Given the description of an element on the screen output the (x, y) to click on. 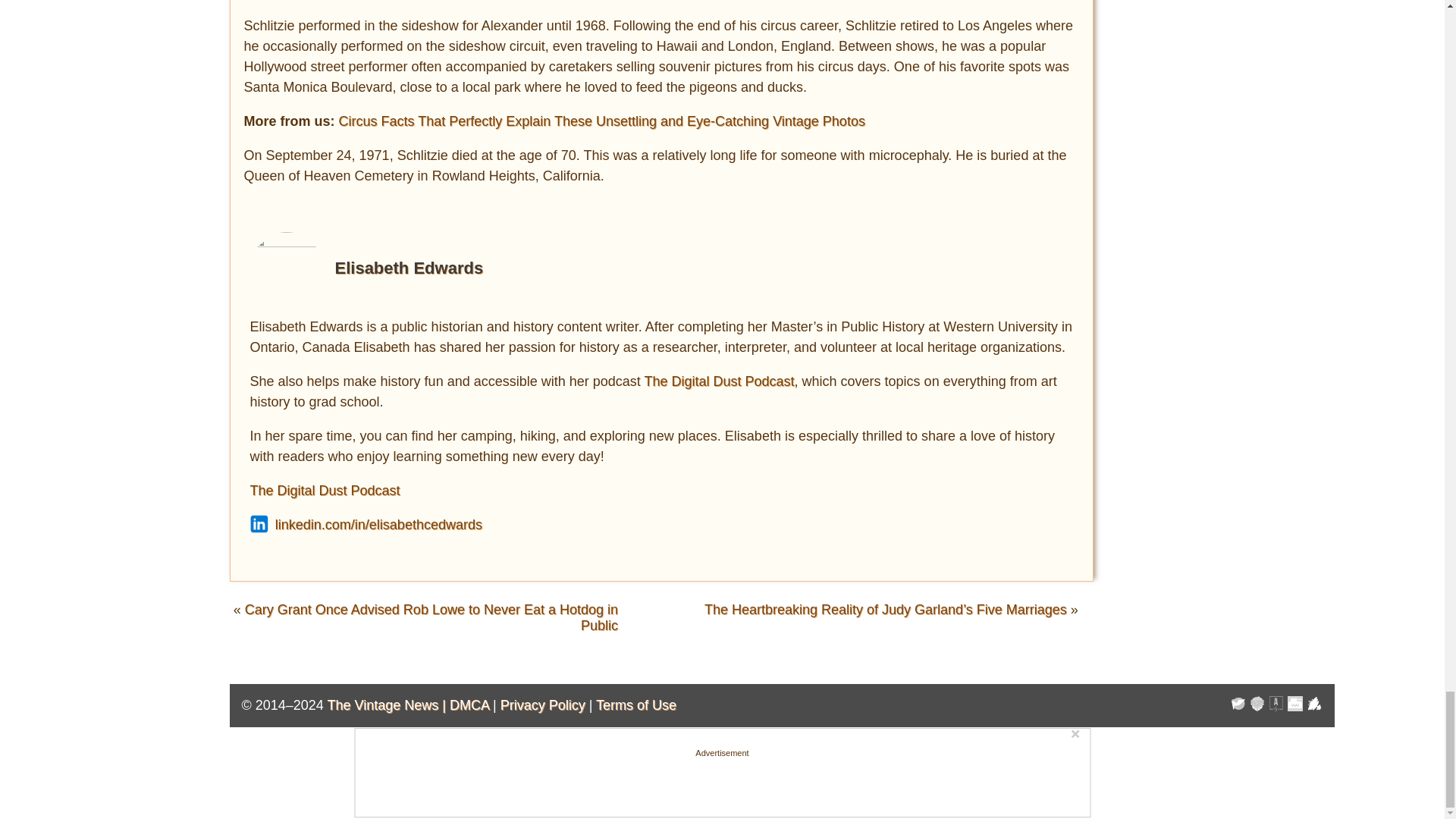
Tank Roar (1295, 705)
War History Online (1238, 705)
Abandoned Spaces (1276, 705)
Outdoor Revival (1257, 705)
I Love WWII Planes (1314, 705)
